Given the description of an element on the screen output the (x, y) to click on. 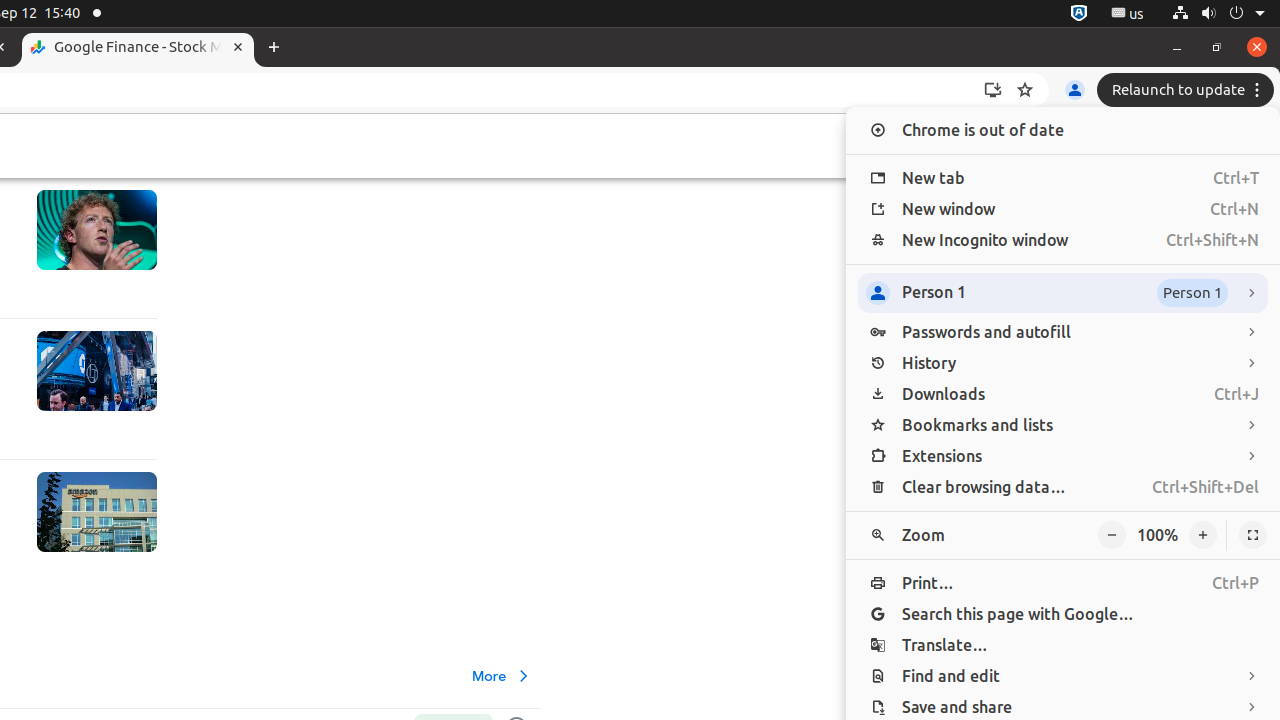
Make Text Larger Element type: menu-item (1203, 535)
:1.72/StatusNotifierItem Element type: menu (1079, 13)
New window Ctrl+N Element type: menu-item (1063, 209)
Make Text Smaller Element type: menu-item (1112, 535)
Zoom Element type: menu-item (1063, 535)
